Given the description of an element on the screen output the (x, y) to click on. 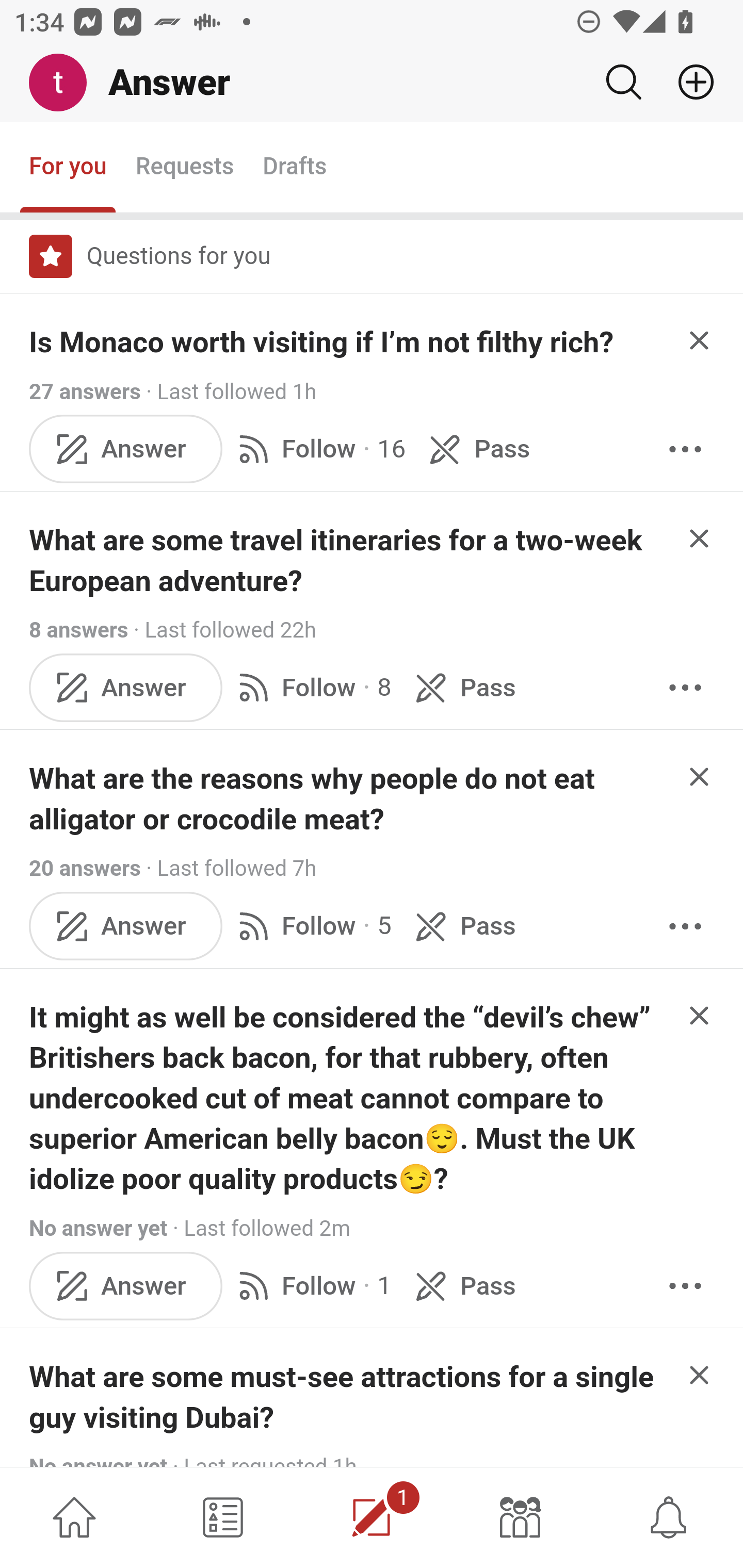
Me Answer Search Add (371, 82)
Me (64, 83)
Search (623, 82)
Add (688, 82)
For you (68, 167)
Requests (183, 167)
Drafts (295, 167)
Hide (699, 340)
Is Monaco worth visiting if I’m not filthy rich? (320, 342)
27 answers 27  answers (84, 390)
Answer (125, 448)
Follow · 16 (317, 448)
Pass (476, 448)
More (684, 448)
Hide (699, 537)
8 answers 8  answers (79, 629)
Answer (125, 687)
Follow · 8 (311, 687)
Pass (461, 687)
More (684, 687)
Hide (699, 776)
20 answers 20  answers (84, 868)
Answer (125, 925)
Follow · 5 (311, 925)
Pass (461, 925)
More (684, 925)
Hide (699, 1015)
No answer yet (97, 1228)
Answer (125, 1284)
Follow · 1 (311, 1284)
Pass (461, 1284)
More (684, 1284)
Hide (699, 1375)
